Given the description of an element on the screen output the (x, y) to click on. 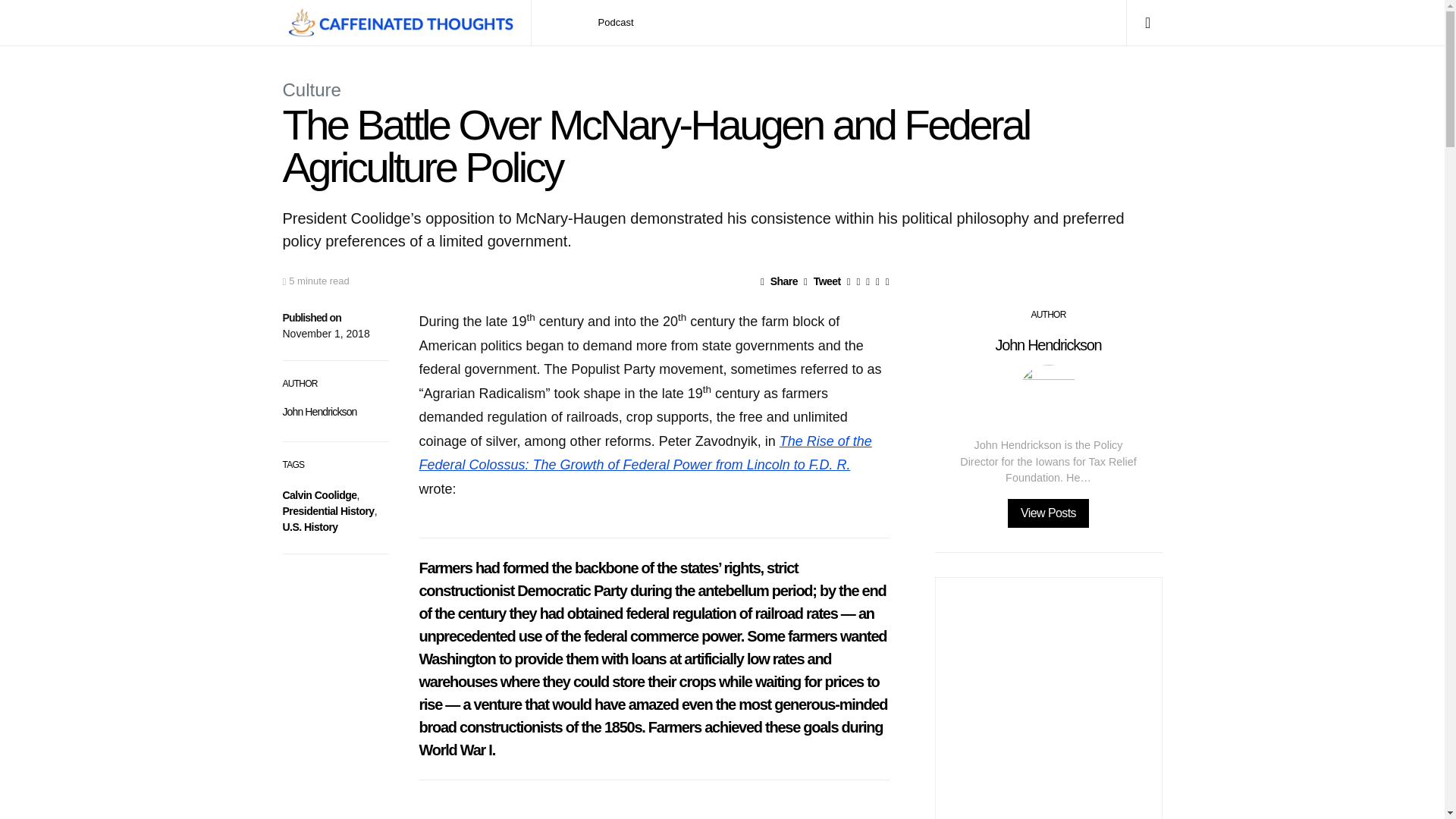
Share (778, 280)
Presidential History (328, 510)
U.S. History (309, 526)
Calvin Coolidge (319, 494)
John Hendrickson (319, 411)
Tweet (822, 280)
Culture (311, 89)
Podcast (616, 22)
